Given the description of an element on the screen output the (x, y) to click on. 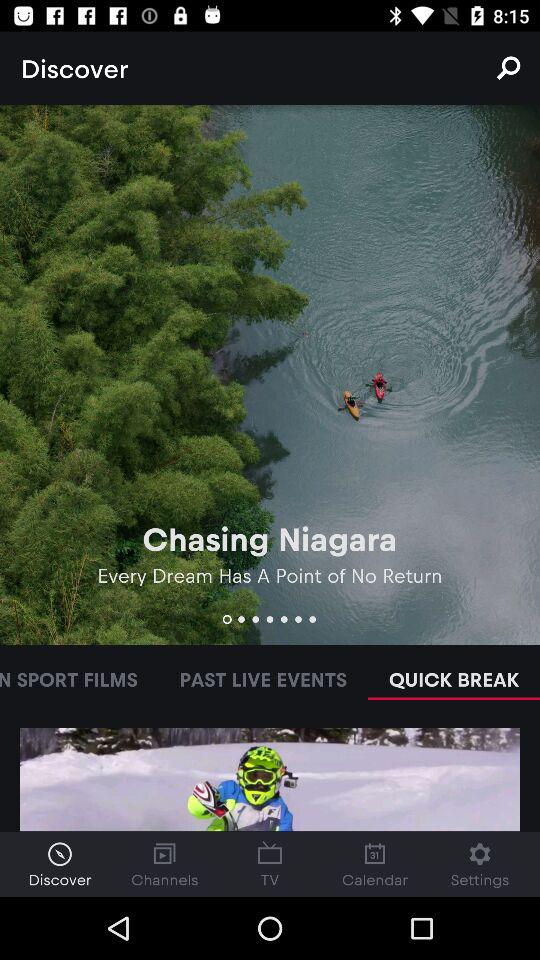
click the icon at the top right corner (508, 67)
